Given the description of an element on the screen output the (x, y) to click on. 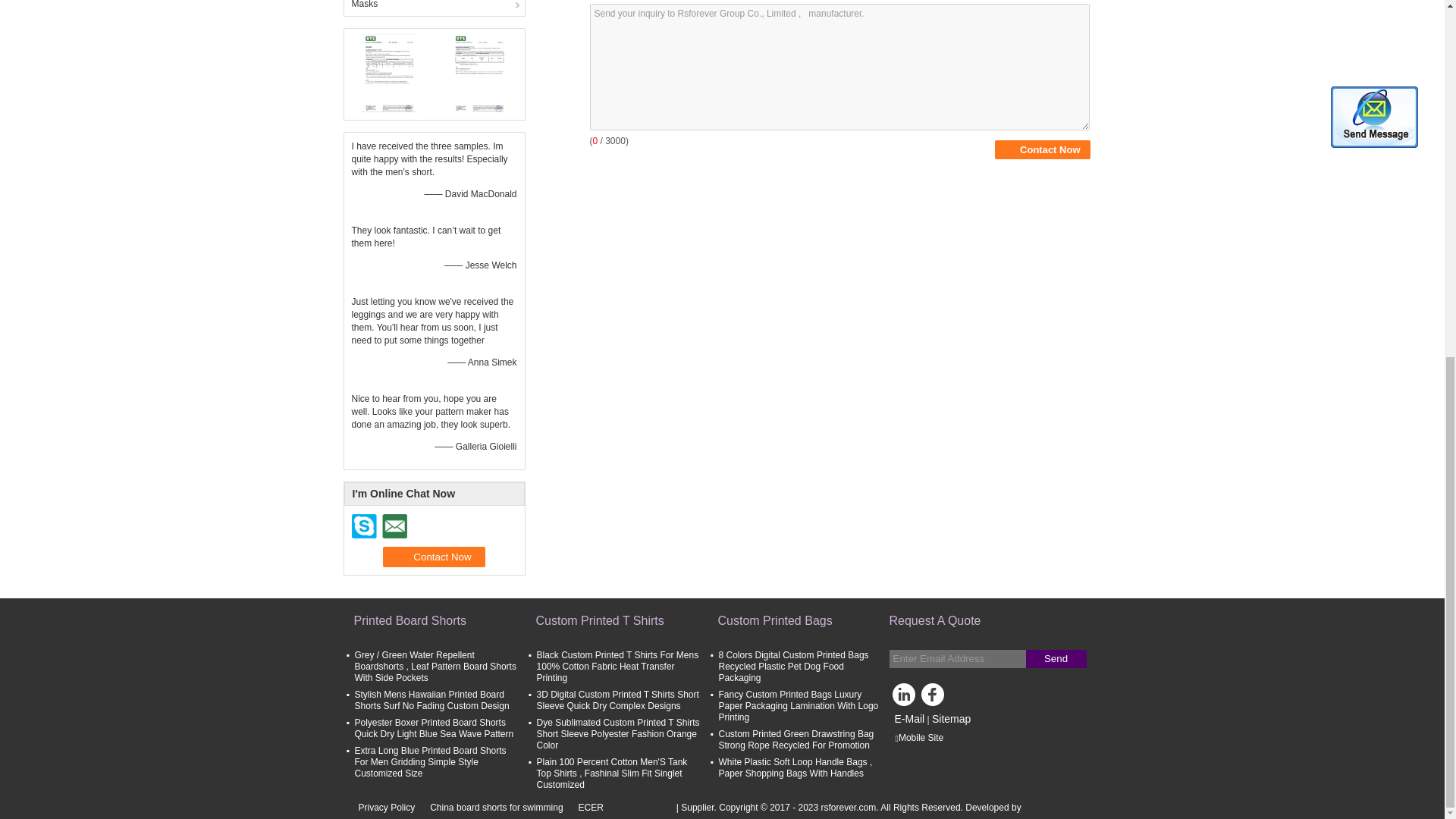
Contact Now (433, 557)
Contact Now (433, 557)
Masks (433, 7)
Contact Now (1041, 149)
